Given the description of an element on the screen output the (x, y) to click on. 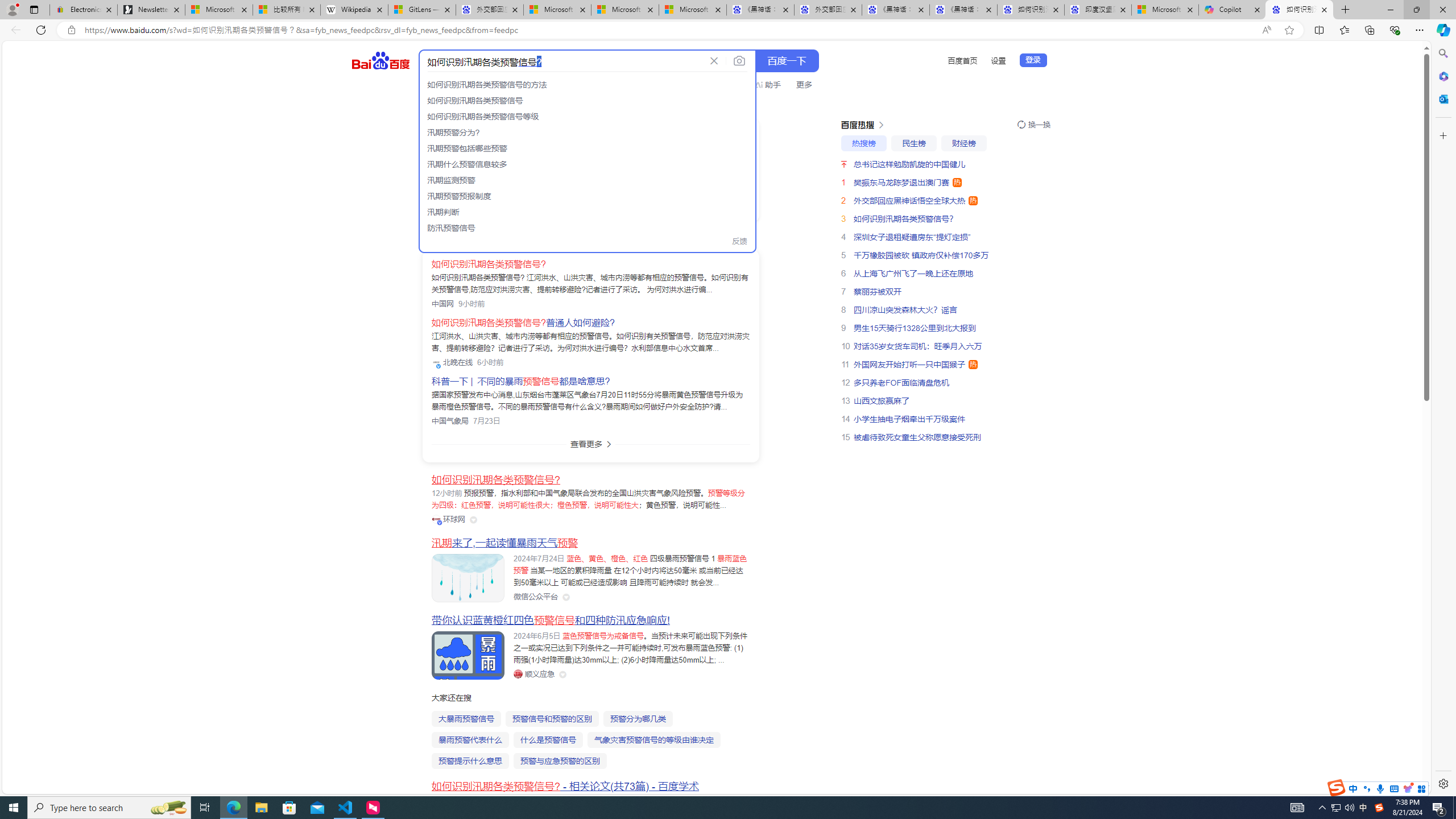
Copilot (1232, 9)
